Given the description of an element on the screen output the (x, y) to click on. 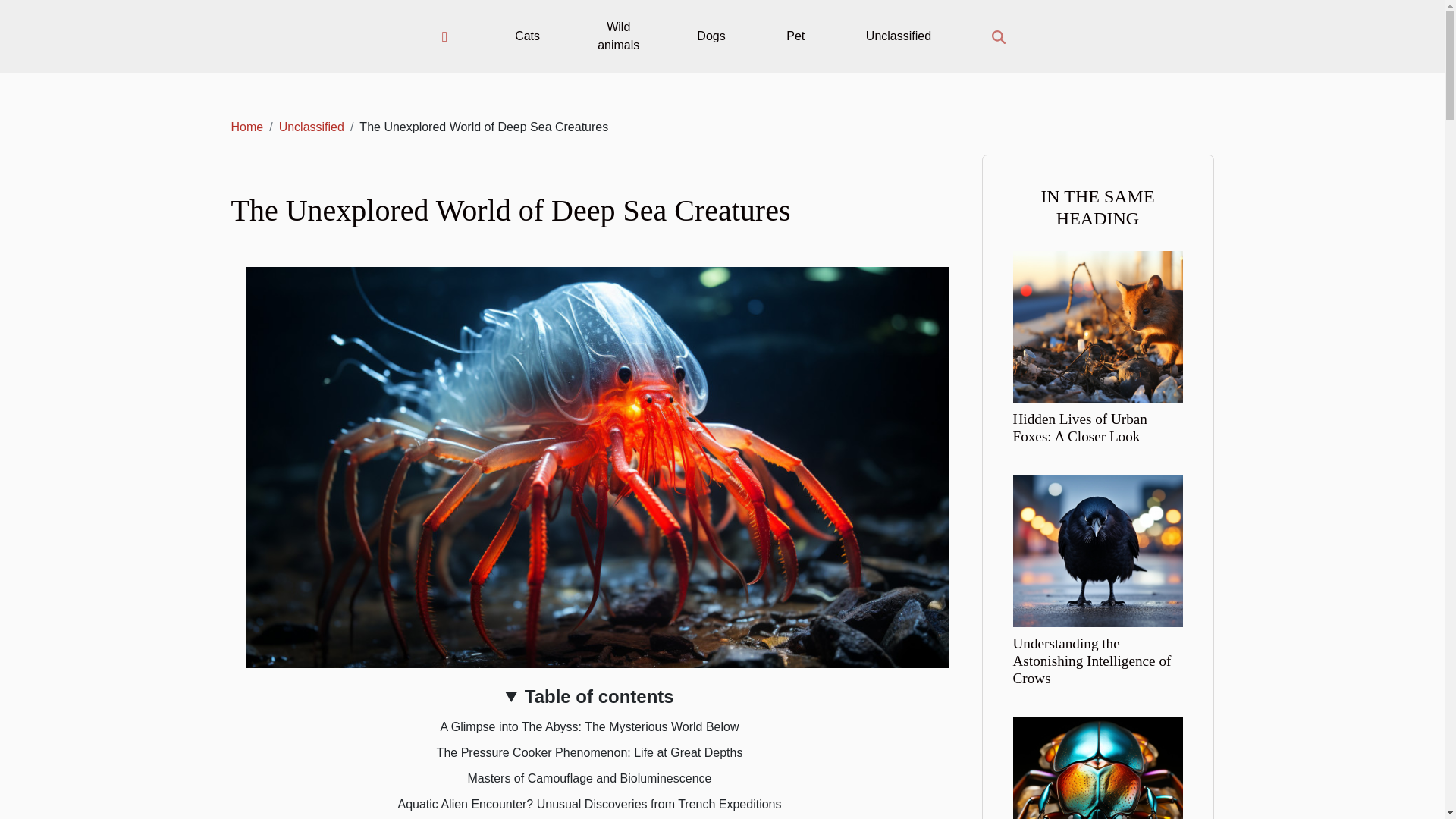
Hidden Lives of Urban Foxes: A Closer Look (1080, 427)
Home (246, 126)
Understanding the Astonishing Intelligence of Crows (1092, 660)
Unclassified (898, 36)
Masters of Camouflage and Bioluminescence (589, 778)
Dogs (710, 36)
Hidden Lives of Urban Foxes: A Closer Look (1097, 325)
A Glimpse into The Abyss: The Mysterious World Below (590, 726)
Hidden Lives of Urban Foxes: A Closer Look (1080, 427)
Pet (795, 36)
Cats (527, 36)
Understanding the Astonishing Intelligence of Crows (1092, 660)
Unclassified (311, 126)
Living Jewels: The Colorful World of Beetles (1097, 791)
Wild animals (618, 36)
